Given the description of an element on the screen output the (x, y) to click on. 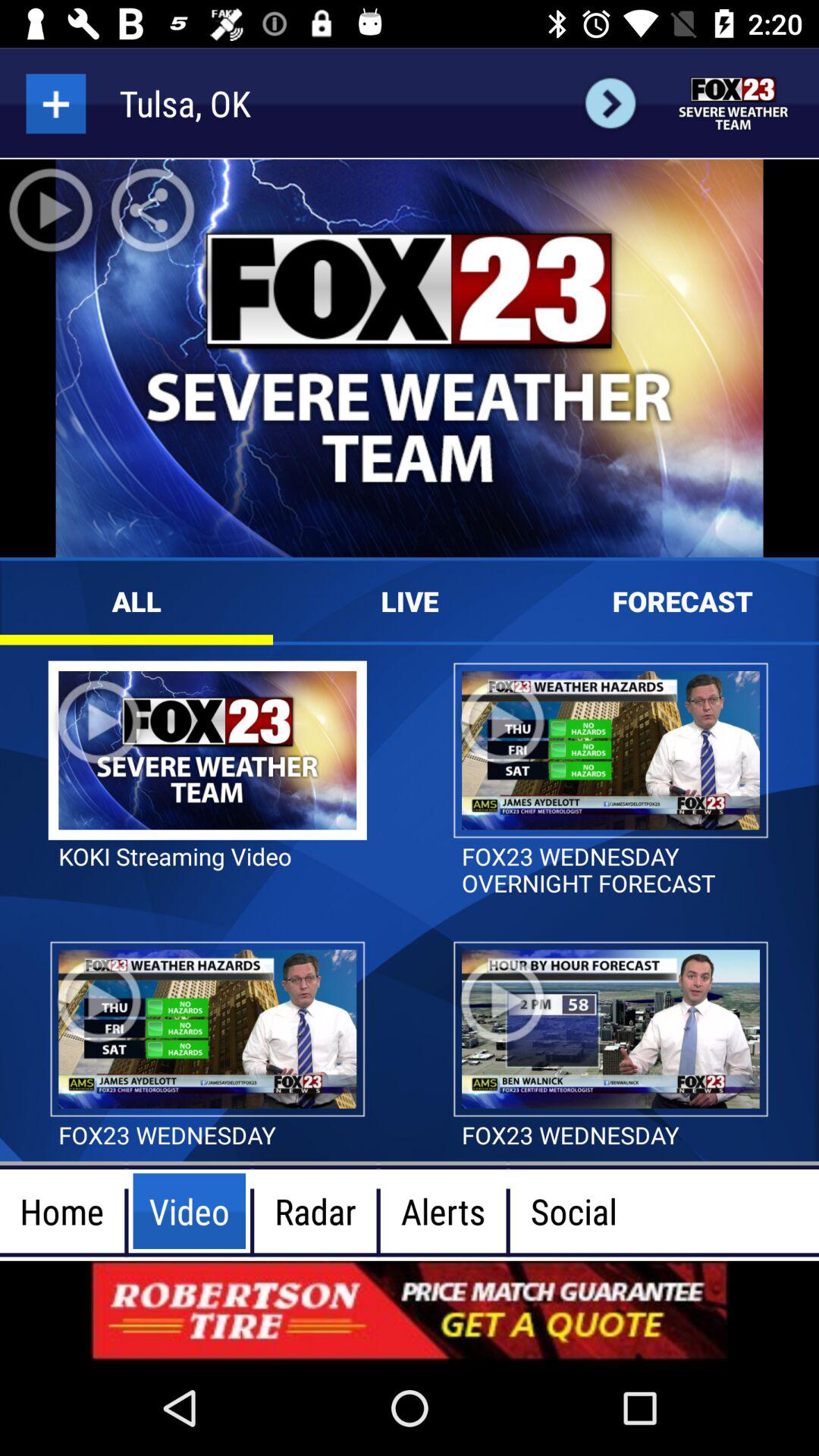
go to next user (610, 103)
